Given the description of an element on the screen output the (x, y) to click on. 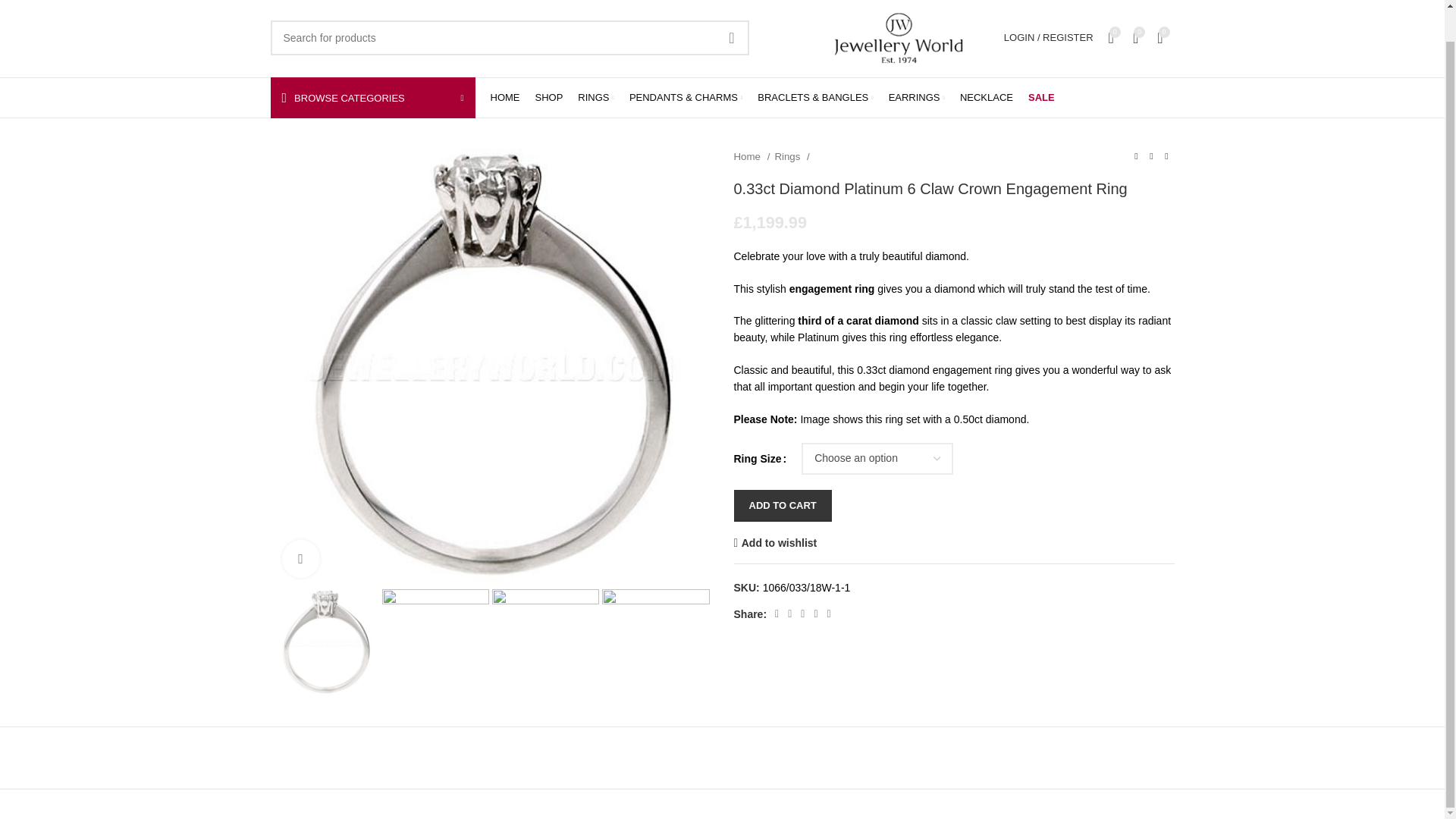
RINGS (596, 97)
SHOP (549, 97)
SEARCH (731, 37)
0 (1165, 37)
EARRINGS (916, 97)
NECKLACE (986, 97)
My account (1047, 37)
Search for products (508, 37)
HOME (504, 97)
Shopping cart (1165, 37)
